Given the description of an element on the screen output the (x, y) to click on. 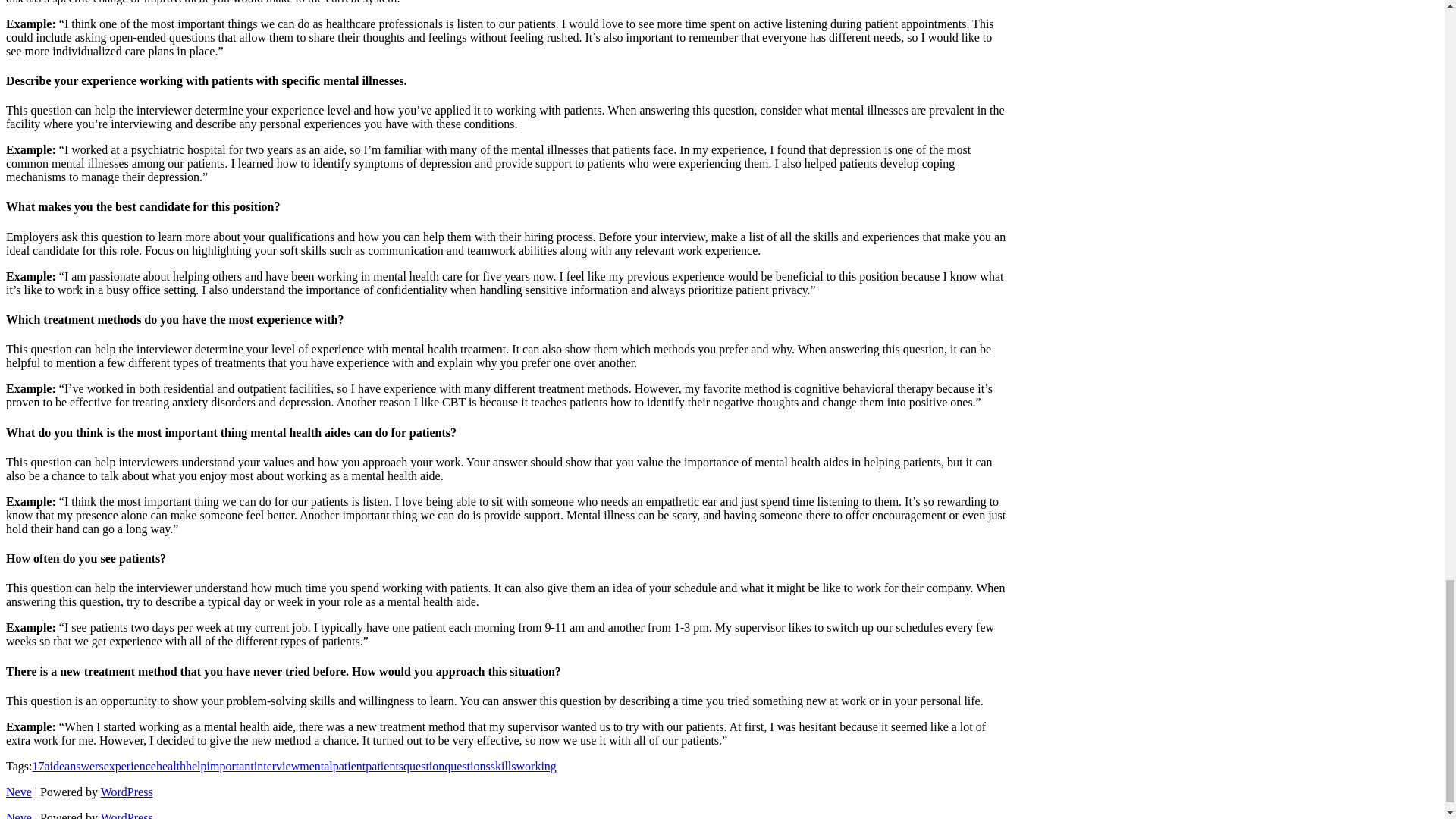
17 (37, 766)
experience (129, 766)
aide (53, 766)
answers (83, 766)
interview (276, 766)
WordPress (126, 791)
questions (466, 766)
mental (316, 766)
help (196, 766)
patient (349, 766)
